Given the description of an element on the screen output the (x, y) to click on. 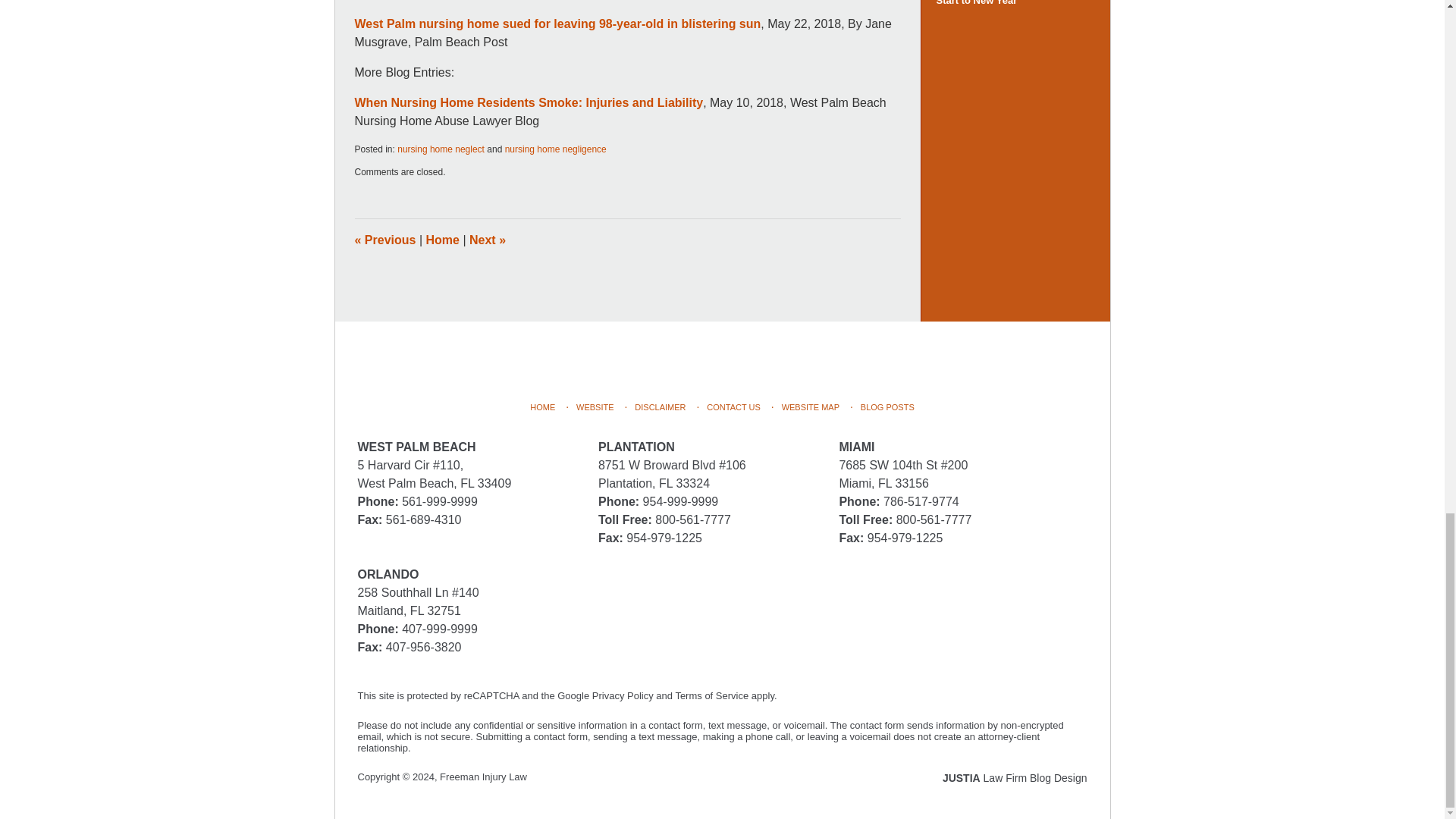
View all posts in nursing home negligence (556, 149)
nursing home negligence (556, 149)
View all posts in nursing home neglect (440, 149)
nursing home neglect (440, 149)
Home (443, 239)
When Nursing Home Residents Smoke: Injuries and Liability (529, 102)
